Given the description of an element on the screen output the (x, y) to click on. 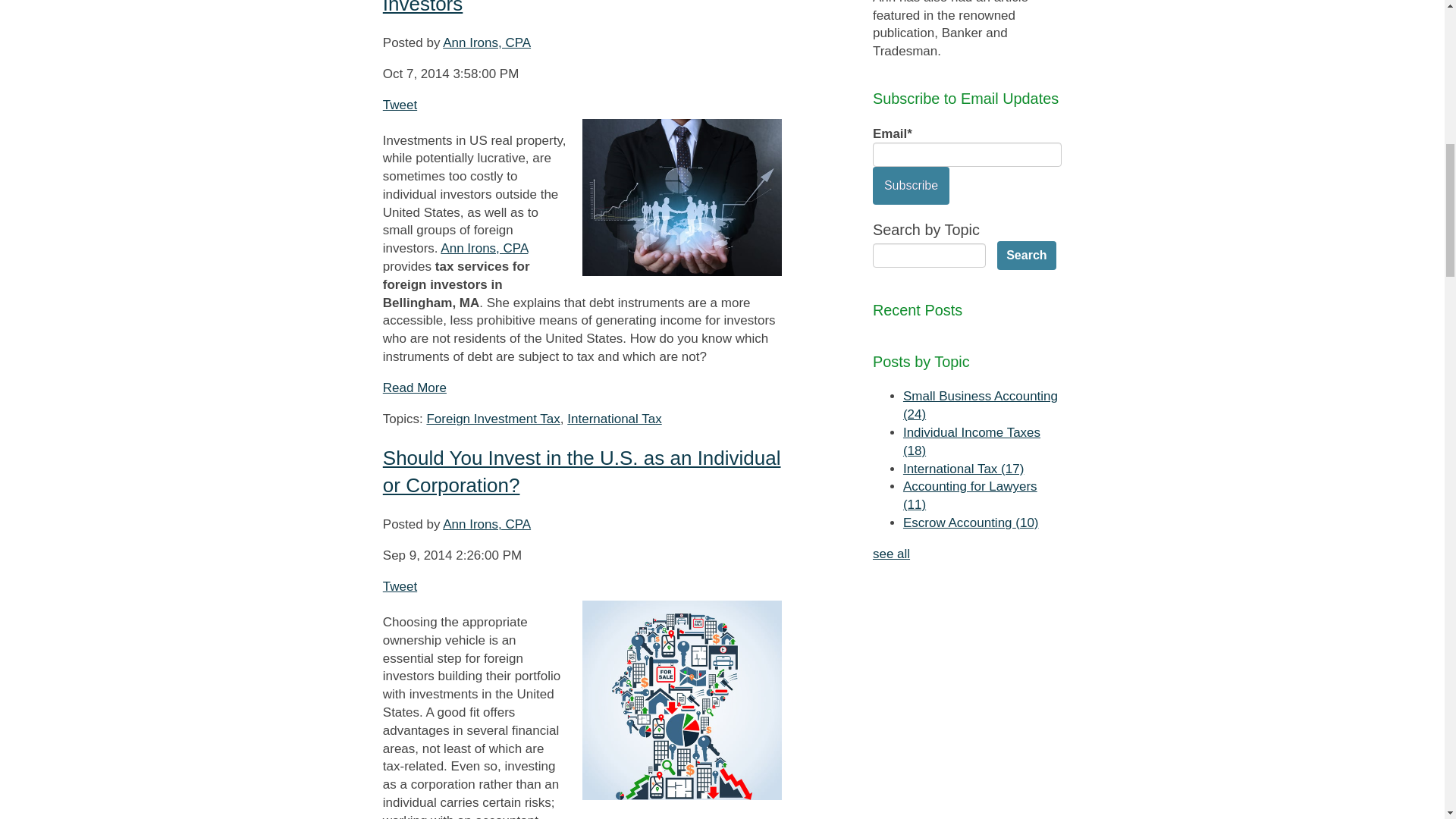
Subscribe (910, 185)
Taxing Investment Income for Nonresident Investors (567, 7)
Foreign Investment Tax (492, 418)
International Tax (614, 418)
Ann Irons, CPA (484, 247)
Read More (414, 387)
Tweet (399, 104)
Ann Irons, CPA (486, 42)
